Given the description of an element on the screen output the (x, y) to click on. 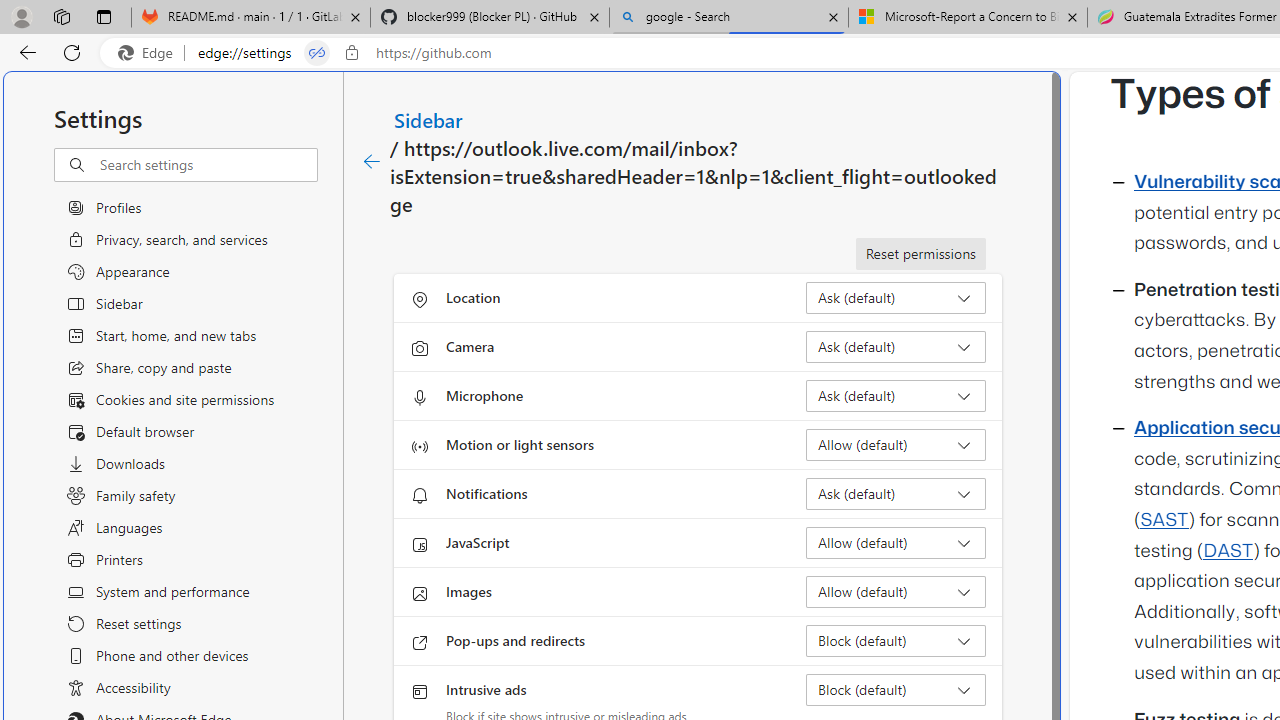
Sidebar (429, 119)
Notifications Ask (default) (895, 493)
Intrusive ads Block (default) (895, 689)
Images Allow (default) (895, 591)
Camera Ask (default) (895, 346)
Search settings (207, 165)
Tabs in split screen (317, 53)
Class: c01182 (371, 161)
Pop-ups and redirects Block (default) (895, 640)
SAST (1164, 520)
